Given the description of an element on the screen output the (x, y) to click on. 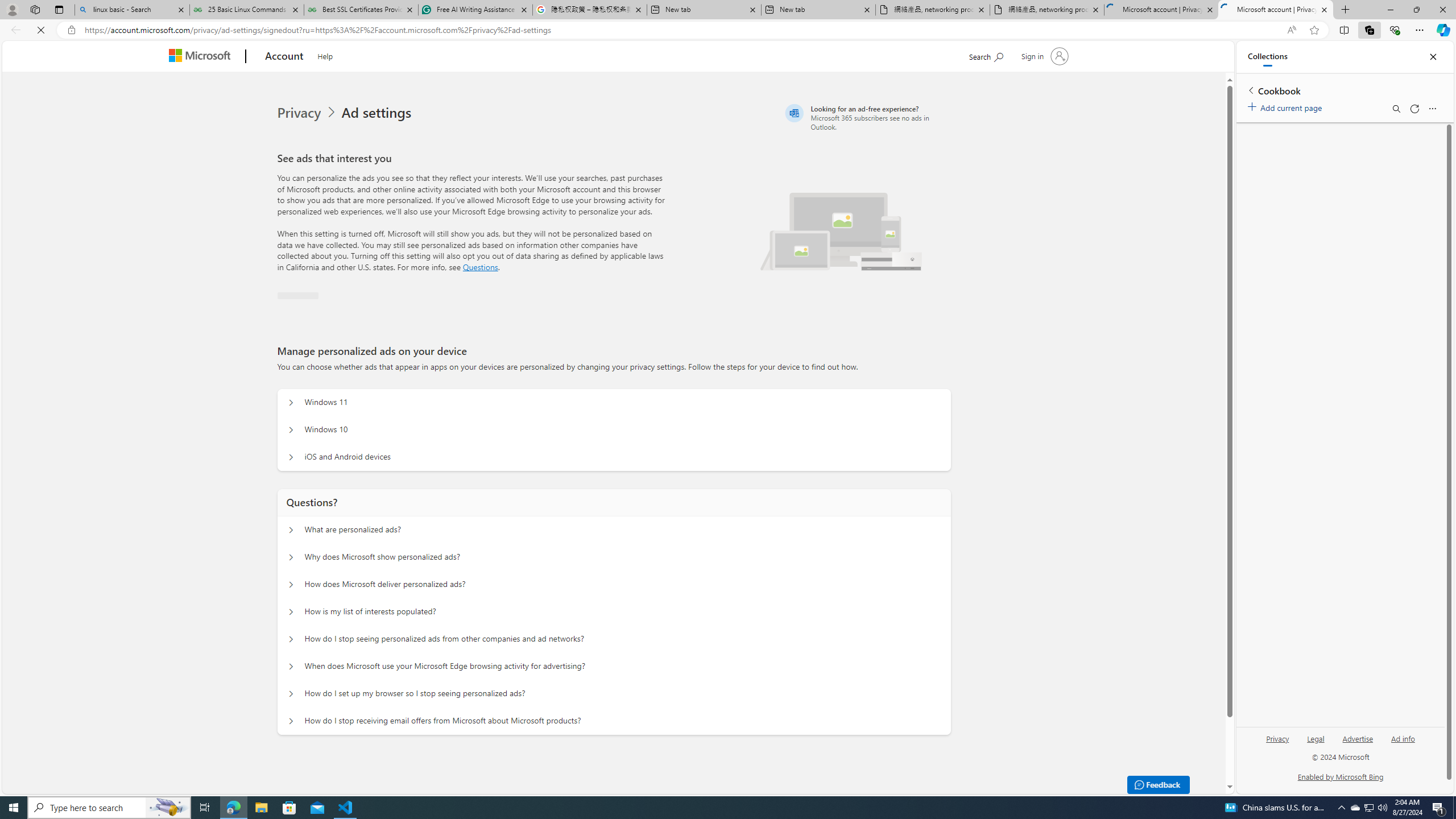
Contact us (938, 775)
Your Privacy Choices Opt-Out Icon (267, 776)
25 Basic Linux Commands For Beginners - GeeksforGeeks (246, 9)
Add current page (1286, 105)
Account (283, 56)
